Given the description of an element on the screen output the (x, y) to click on. 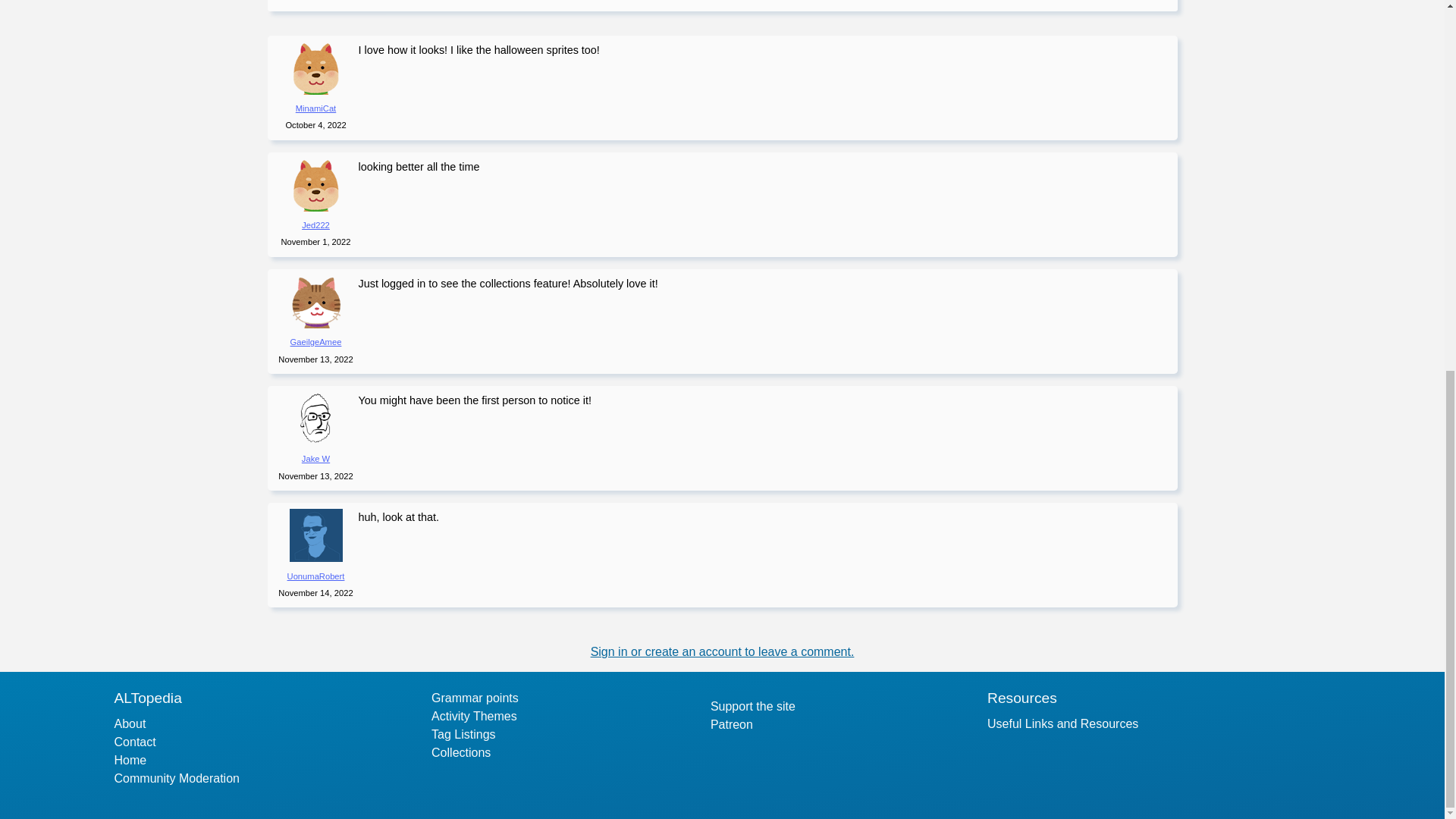
Patreon (731, 724)
Jed222 (315, 225)
Sign in or create an account to leave a comment. (722, 651)
Activity Themes (473, 716)
Community Moderation (177, 778)
Contact (135, 742)
Support the site (752, 706)
Home (131, 760)
Jake W (315, 458)
MinamiCat (315, 108)
Useful Links and Resources (1062, 723)
About (131, 723)
Collections (460, 752)
Grammar points (474, 698)
GaeilgeAmee (315, 341)
